Given the description of an element on the screen output the (x, y) to click on. 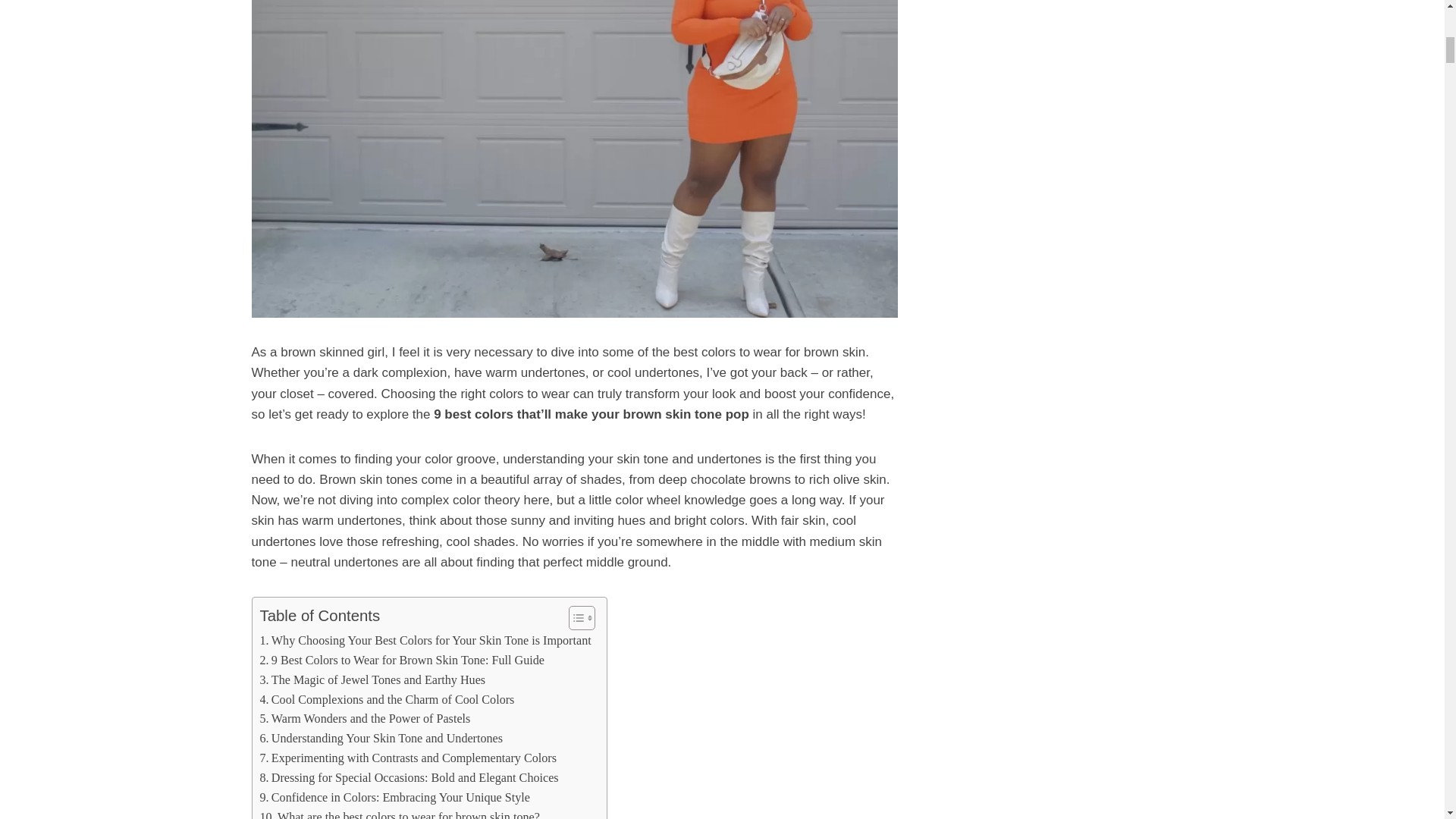
Understanding Your Skin Tone and Undertones (380, 738)
The Magic of Jewel Tones and Earthy Hues (371, 680)
Dressing for Special Occasions: Bold and Elegant Choices (408, 777)
Warm Wonders and the Power of Pastels (364, 718)
9 Best Colors to Wear for Brown Skin Tone: Full Guide (401, 660)
What are the best colors to wear for brown skin tone? (398, 813)
Experimenting with Contrasts and Complementary Colors (407, 758)
Confidence in Colors: Embracing Your Unique Style (394, 797)
What are the best colors to wear for brown skin tone? (398, 813)
Cool Complexions and the Charm of Cool Colors (386, 700)
